Given the description of an element on the screen output the (x, y) to click on. 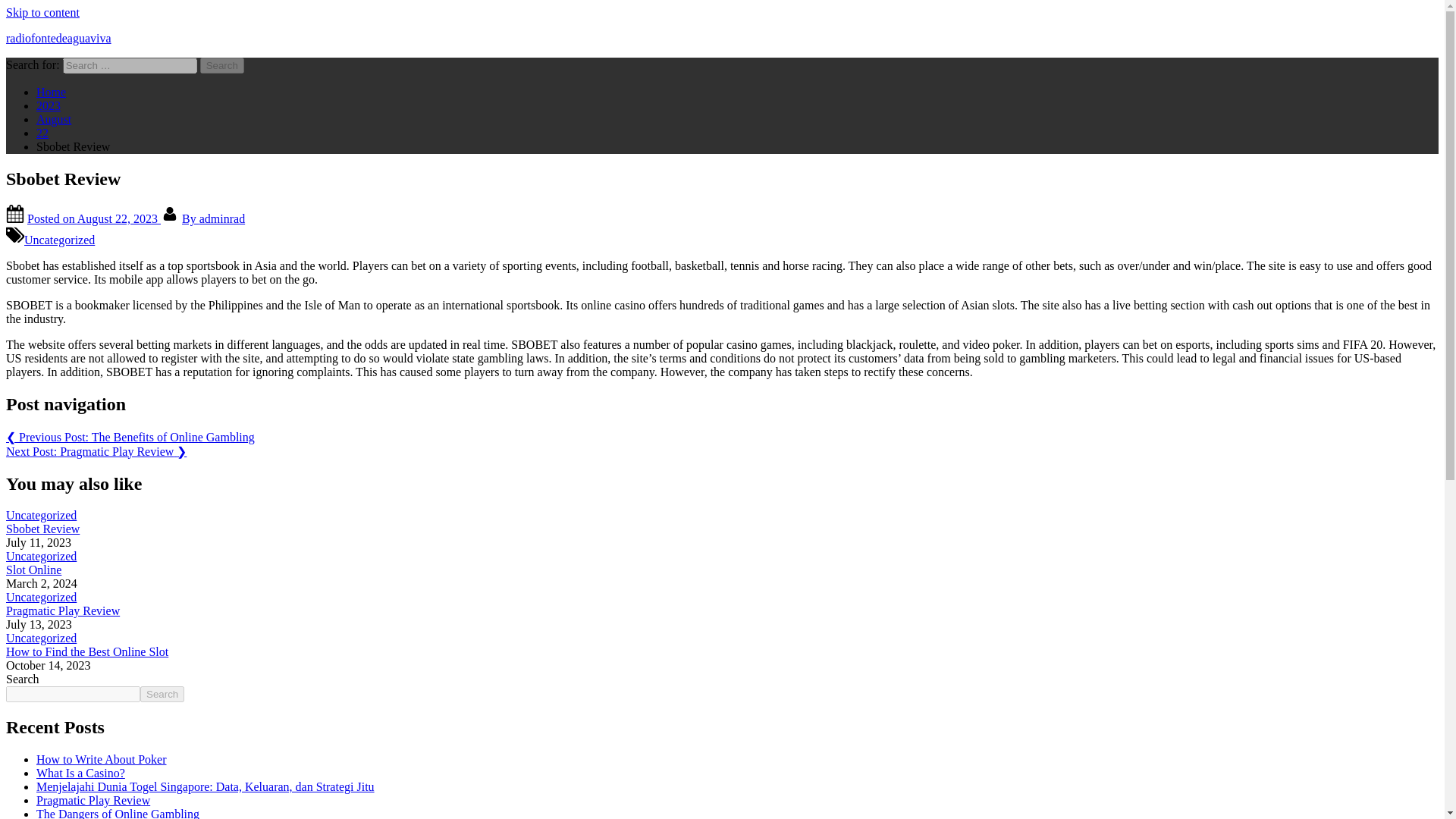
How to Write About Poker (101, 758)
Uncategorized (41, 514)
Uncategorized (41, 555)
Search (222, 65)
2023 (48, 105)
Pragmatic Play Review (92, 799)
Uncategorized (59, 239)
Skip to content (42, 11)
How to Find the Best Online Slot (86, 651)
